Given the description of an element on the screen output the (x, y) to click on. 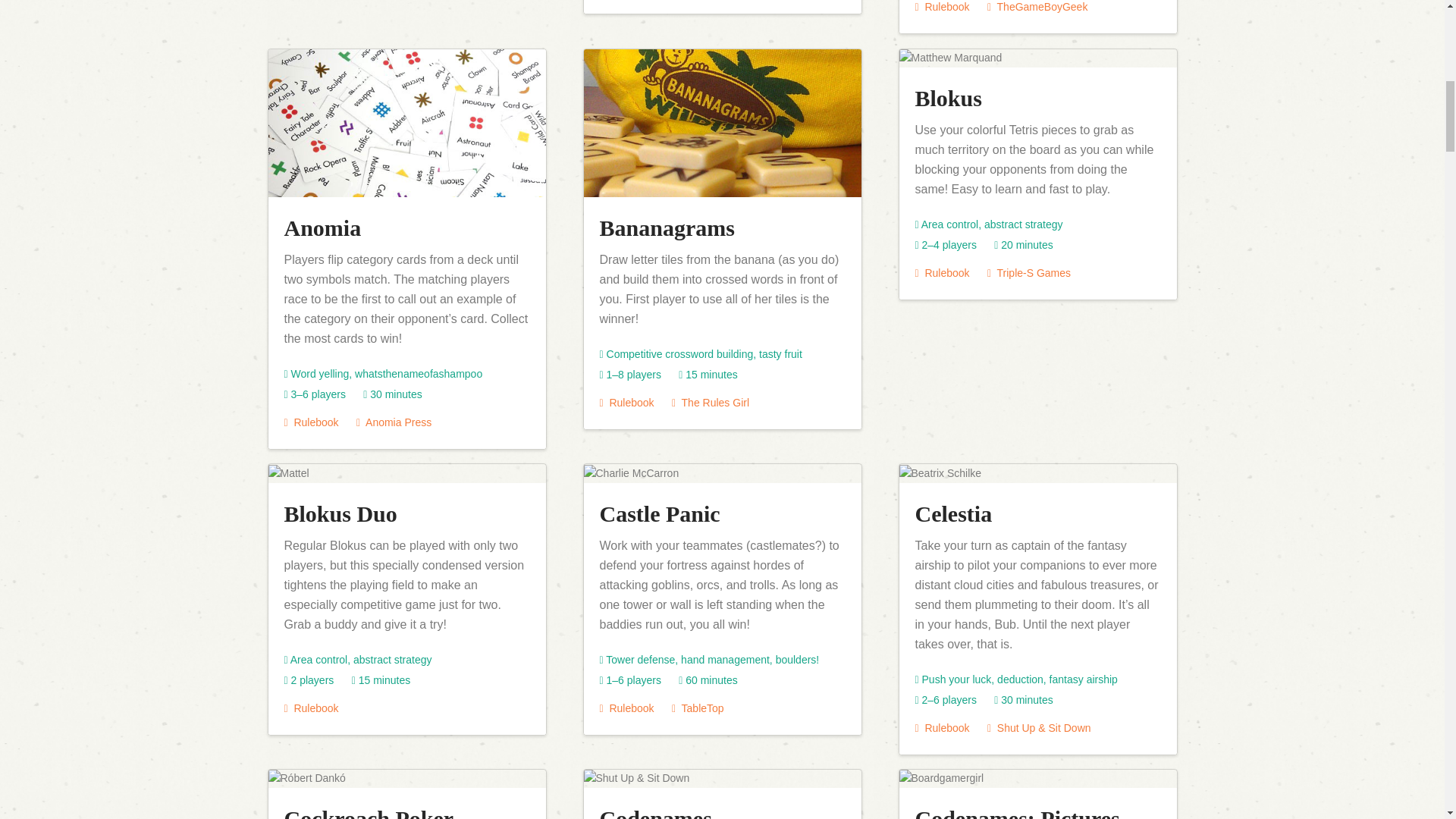
  Rulebook (310, 422)
Anomia (322, 227)
Codenames (654, 812)
  TheGameBoyGeek (1037, 6)
Blokus Duo (339, 513)
Bananagrams (665, 227)
  Rulebook (941, 727)
  The Rules Girl (710, 402)
Codenames: Pictures (1016, 812)
  Rulebook (941, 6)
  Rulebook (625, 707)
  TableTop (697, 707)
Cockroach Poker (367, 812)
  Rulebook (310, 707)
  Rulebook (941, 272)
